Given the description of an element on the screen output the (x, y) to click on. 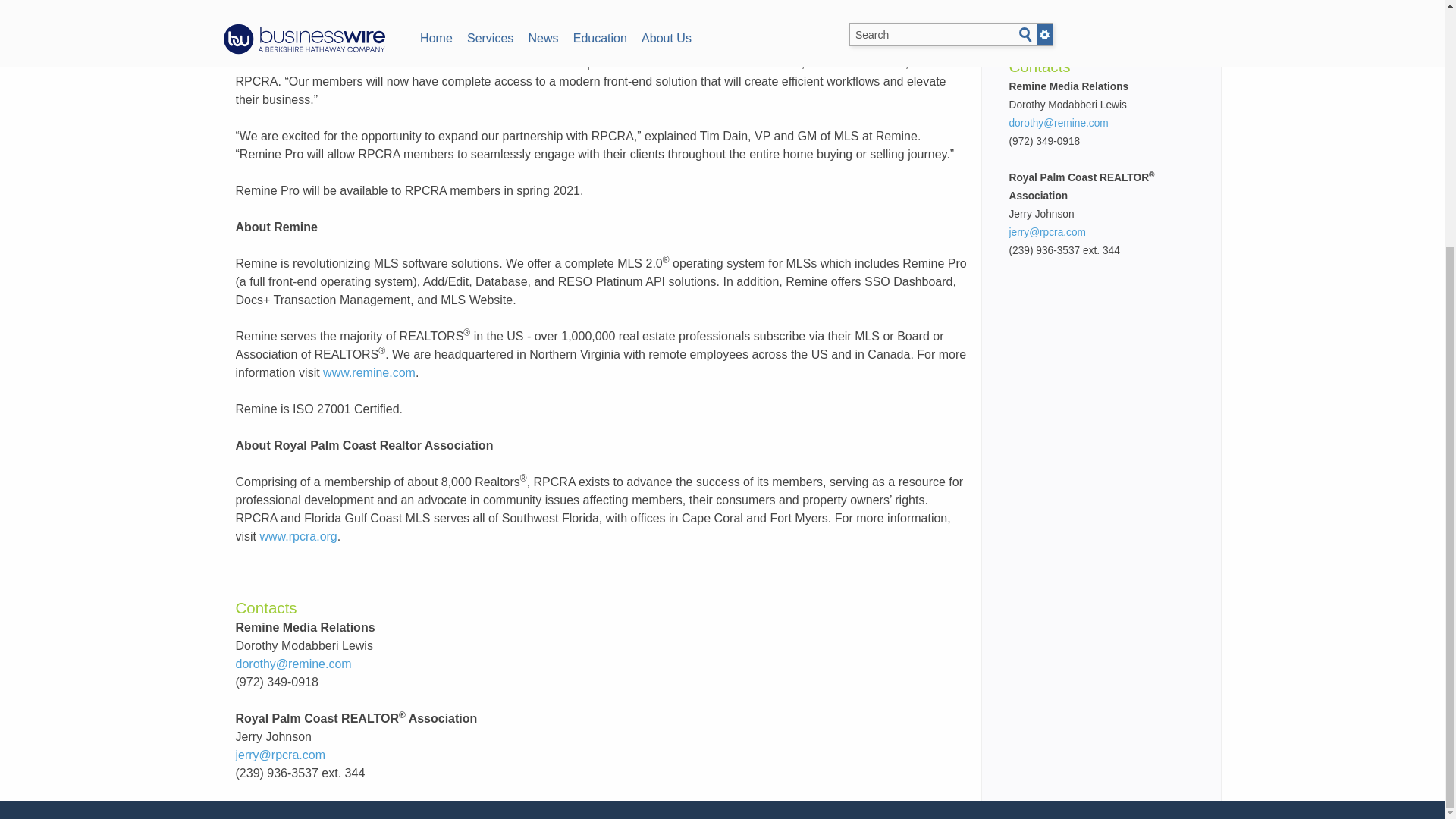
www.remine.com (368, 372)
Post this (269, 29)
www.rpcra.org (297, 535)
